Given the description of an element on the screen output the (x, y) to click on. 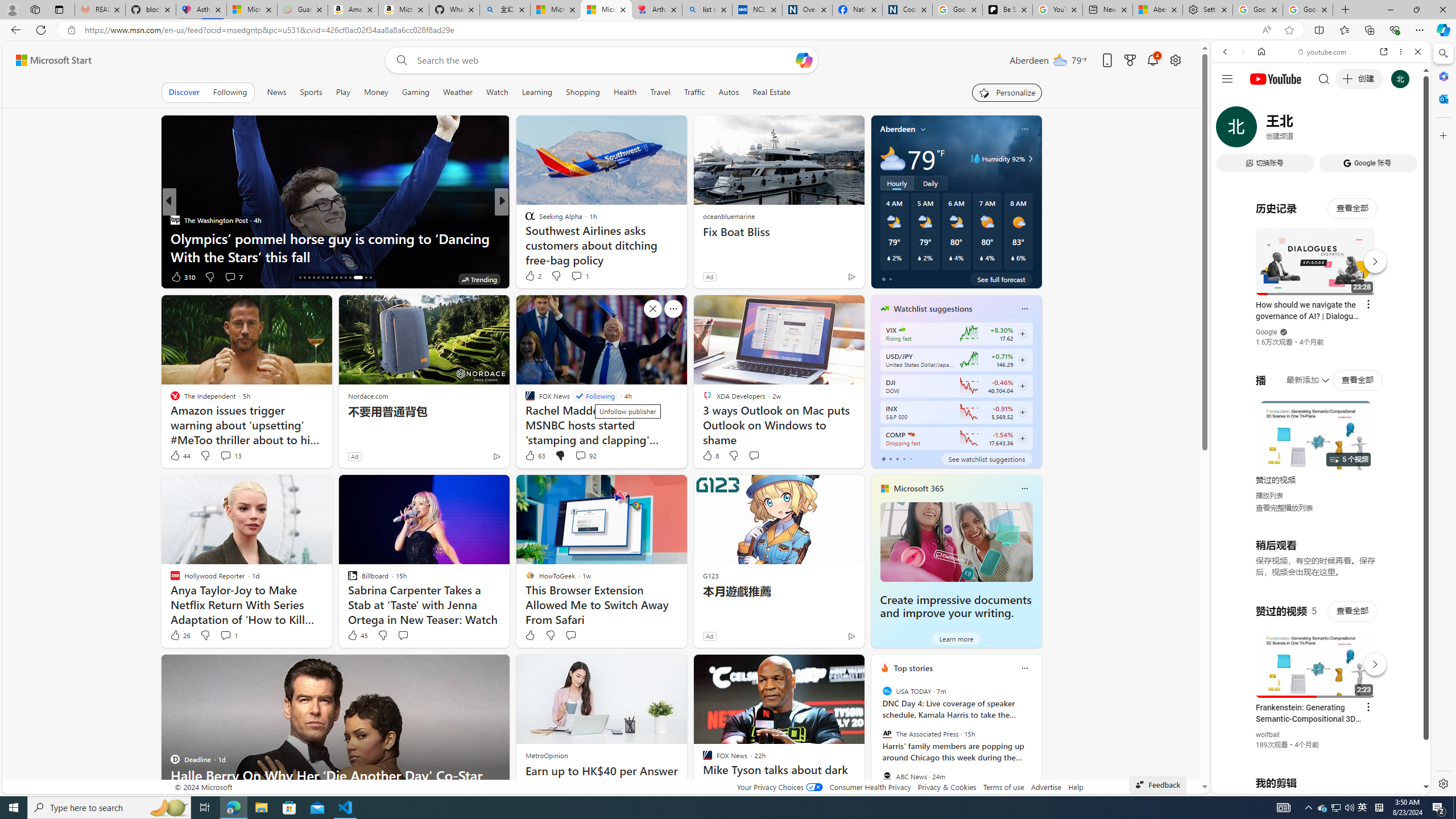
next (1035, 741)
NASDAQ (910, 434)
Ad (708, 636)
This story is trending (133, 279)
Search Filter, IMAGES (1262, 129)
USA TODAY (886, 691)
News (277, 92)
Autos (729, 92)
MetroOpinion (546, 755)
AutomationID: tab-27 (349, 277)
Search Filter, VIDEOS (1300, 129)
Click to scroll right (1407, 456)
